Given the description of an element on the screen output the (x, y) to click on. 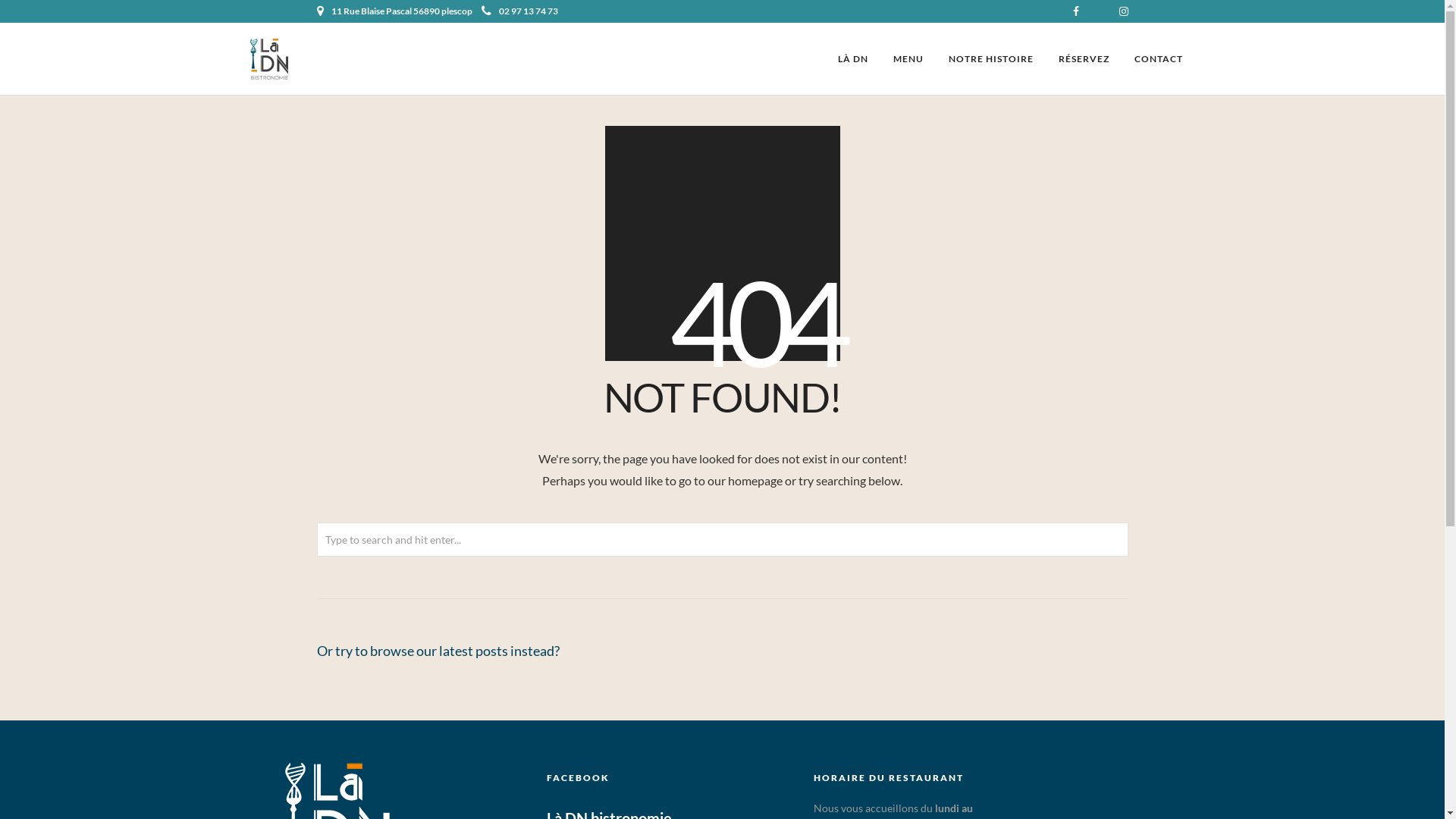
MENU Element type: text (908, 59)
Instagram Element type: hover (1123, 11)
NOTRE HISTOIRE Element type: text (990, 59)
CONTACT Element type: text (1158, 59)
02 97 13 74 73 Element type: text (518, 10)
